Given the description of an element on the screen output the (x, y) to click on. 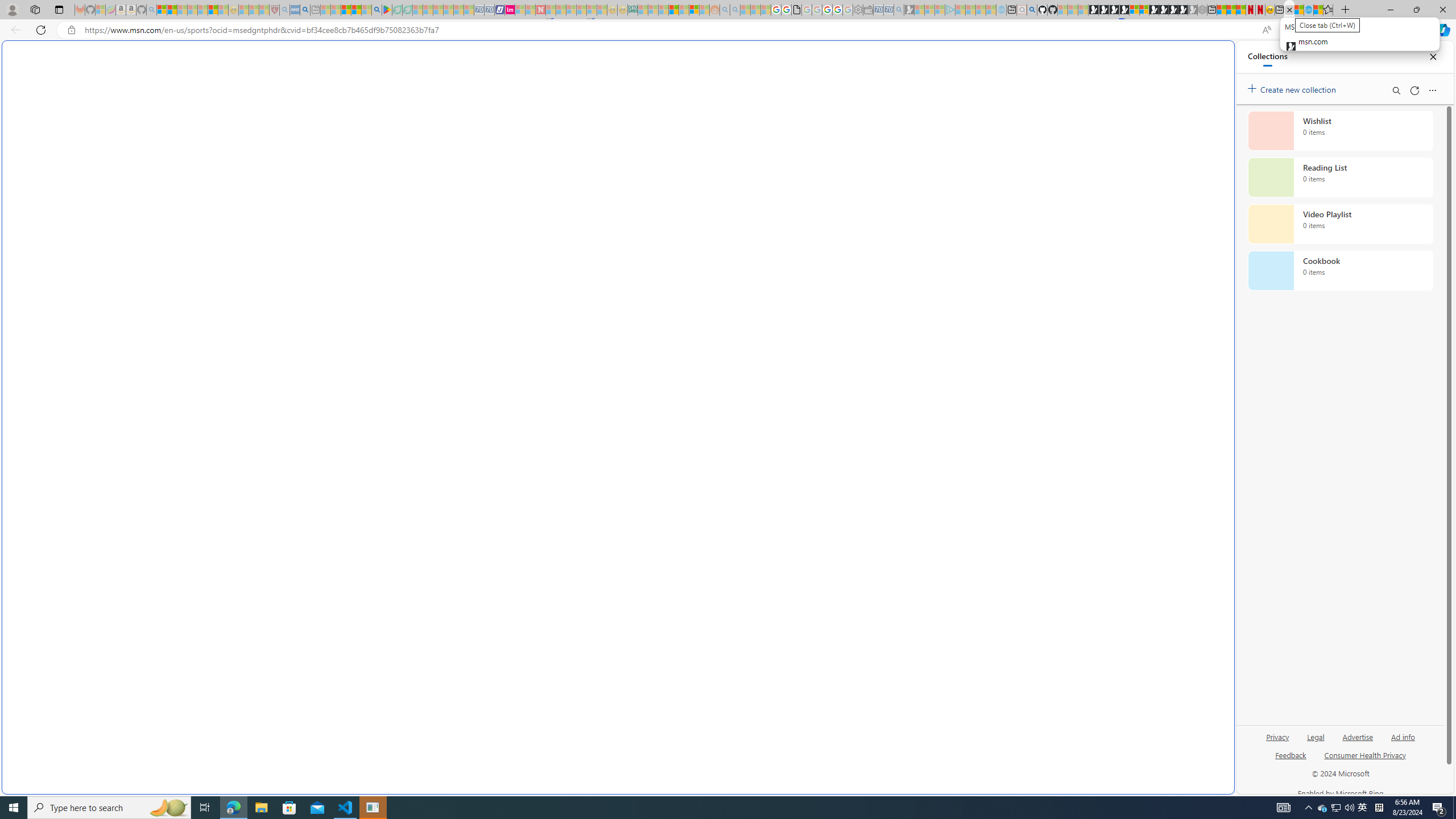
Bluey: Let's Play! - Apps on Google Play (387, 9)
Services - Maintenance | Sky Blue Bikes - Sky Blue Bikes (1307, 9)
